Given the description of an element on the screen output the (x, y) to click on. 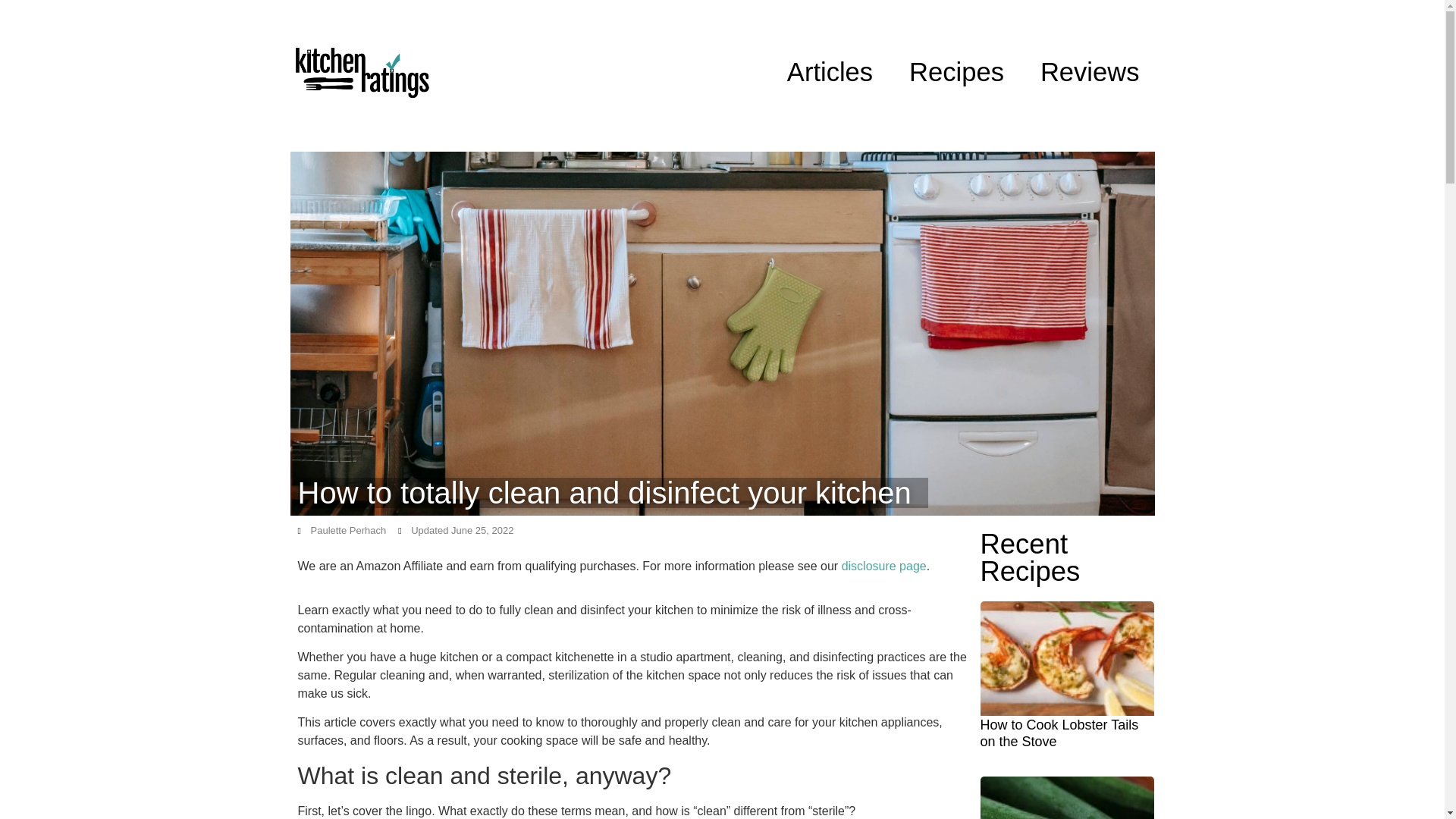
Articles (829, 71)
Paulette Perhach (341, 530)
Reviews (1089, 71)
disclosure page (883, 565)
How to Cook Lobster Tails on the Stove (1058, 733)
Recipes (956, 71)
